Given the description of an element on the screen output the (x, y) to click on. 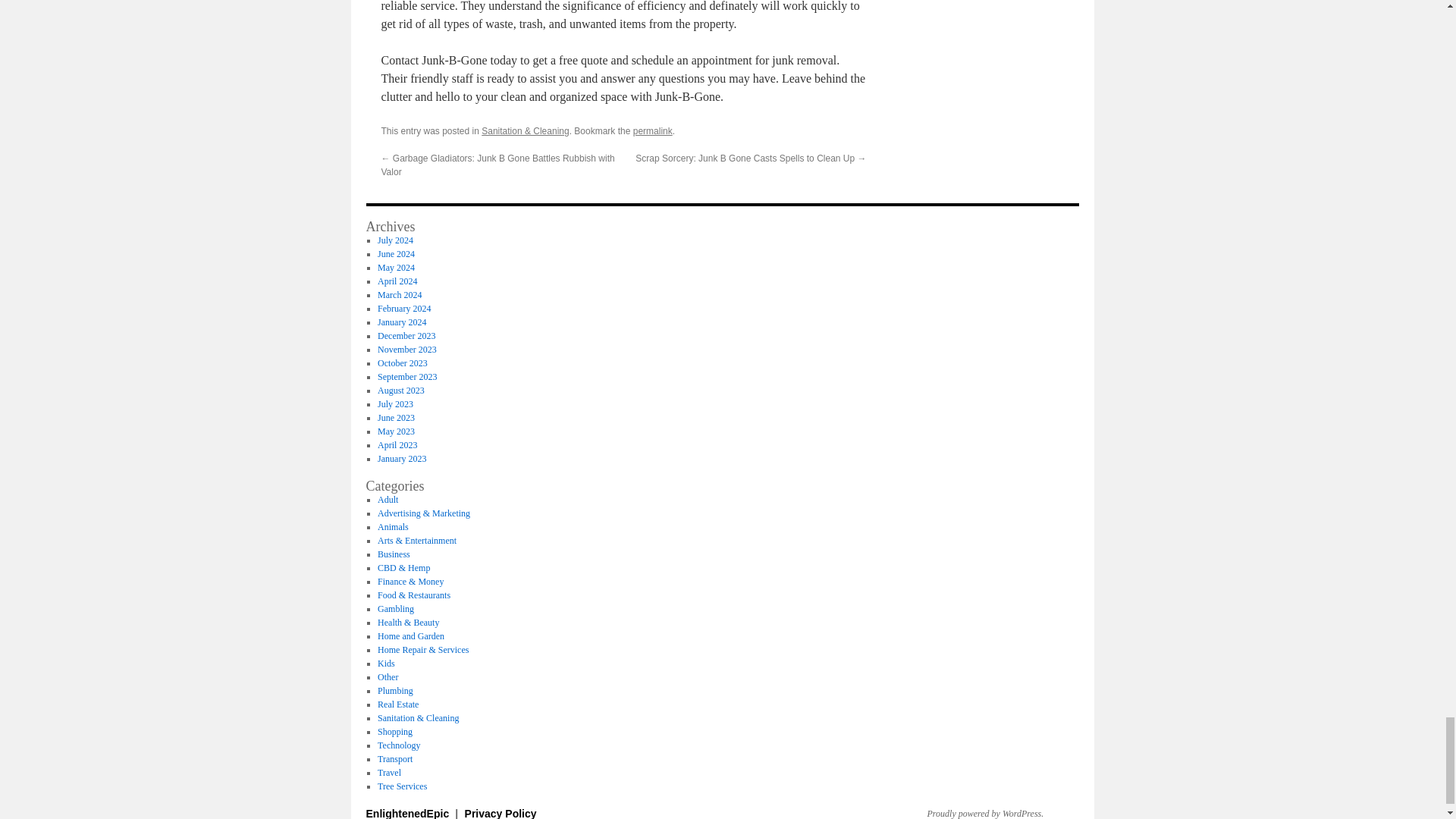
October 2023 (402, 362)
Animals (393, 526)
January 2023 (401, 458)
February 2024 (403, 308)
November 2023 (406, 348)
March 2024 (399, 294)
June 2023 (395, 417)
August 2023 (401, 389)
April 2023 (396, 444)
June 2024 (395, 253)
permalink (652, 131)
May 2024 (395, 267)
Adult (387, 499)
April 2024 (396, 281)
